Given the description of an element on the screen output the (x, y) to click on. 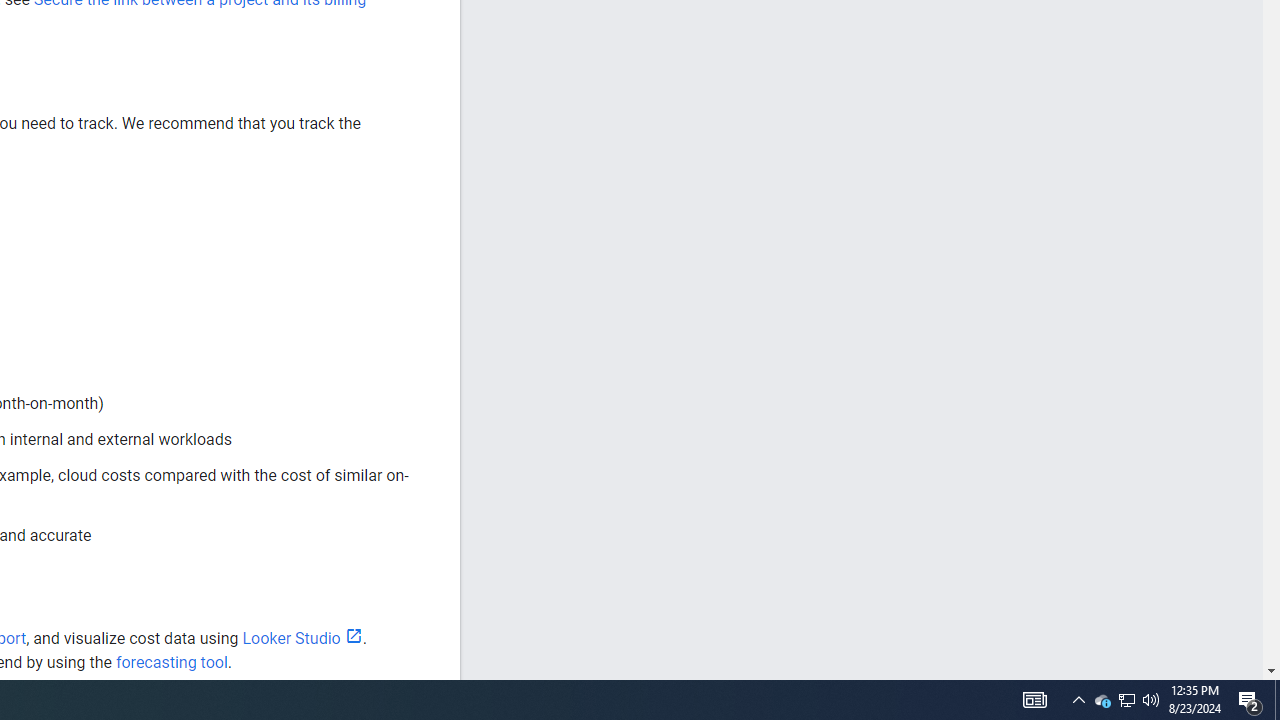
forecasting tool (171, 662)
Looker Studio (302, 638)
